Given the description of an element on the screen output the (x, y) to click on. 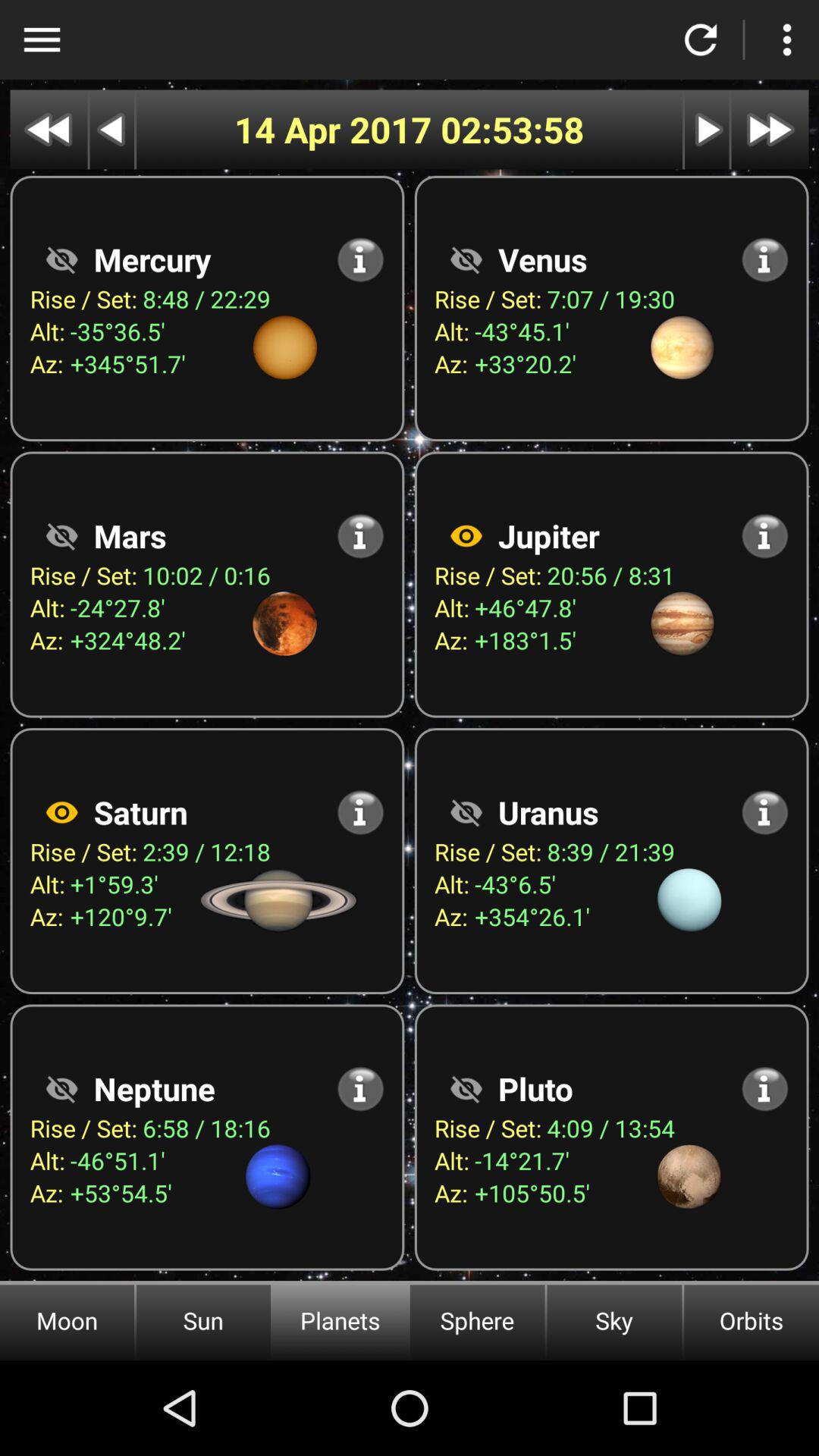
launch item to the left of 02:53:58 icon (337, 129)
